Given the description of an element on the screen output the (x, y) to click on. 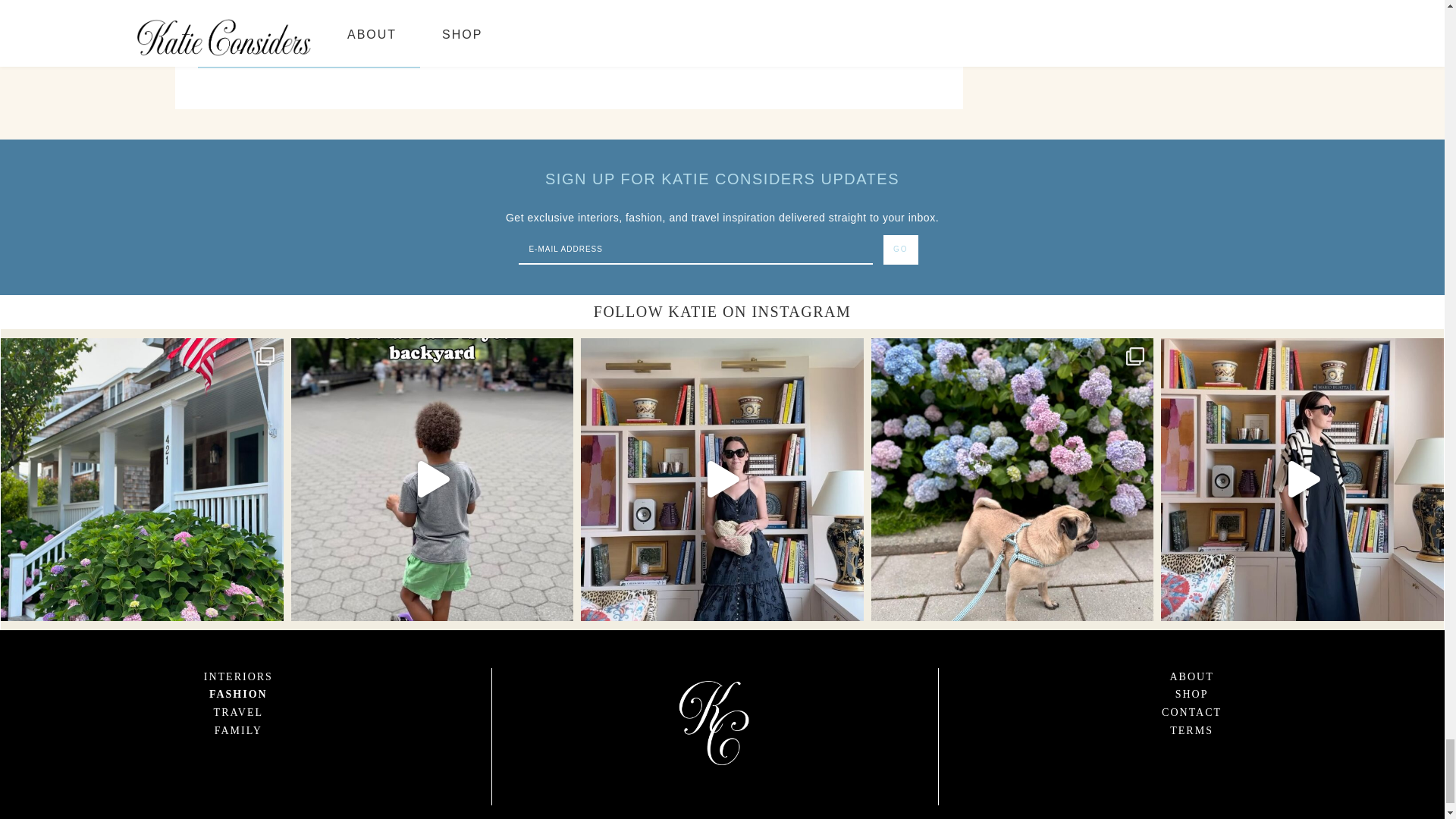
1 (203, 11)
Post Comment (308, 53)
Go (900, 249)
